Given the description of an element on the screen output the (x, y) to click on. 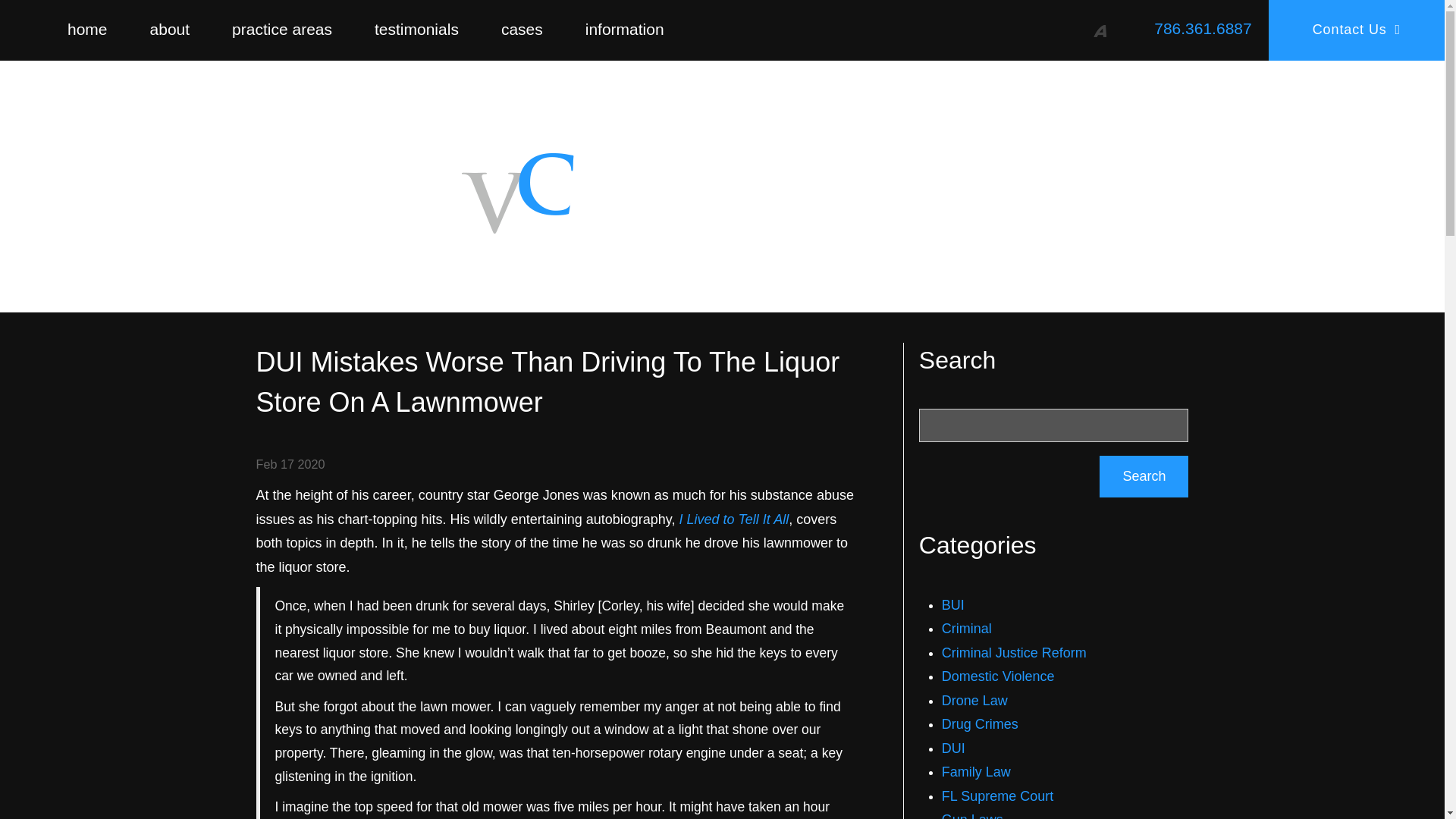
about (170, 29)
home (87, 29)
practice areas (282, 29)
Search (1143, 476)
